Given the description of an element on the screen output the (x, y) to click on. 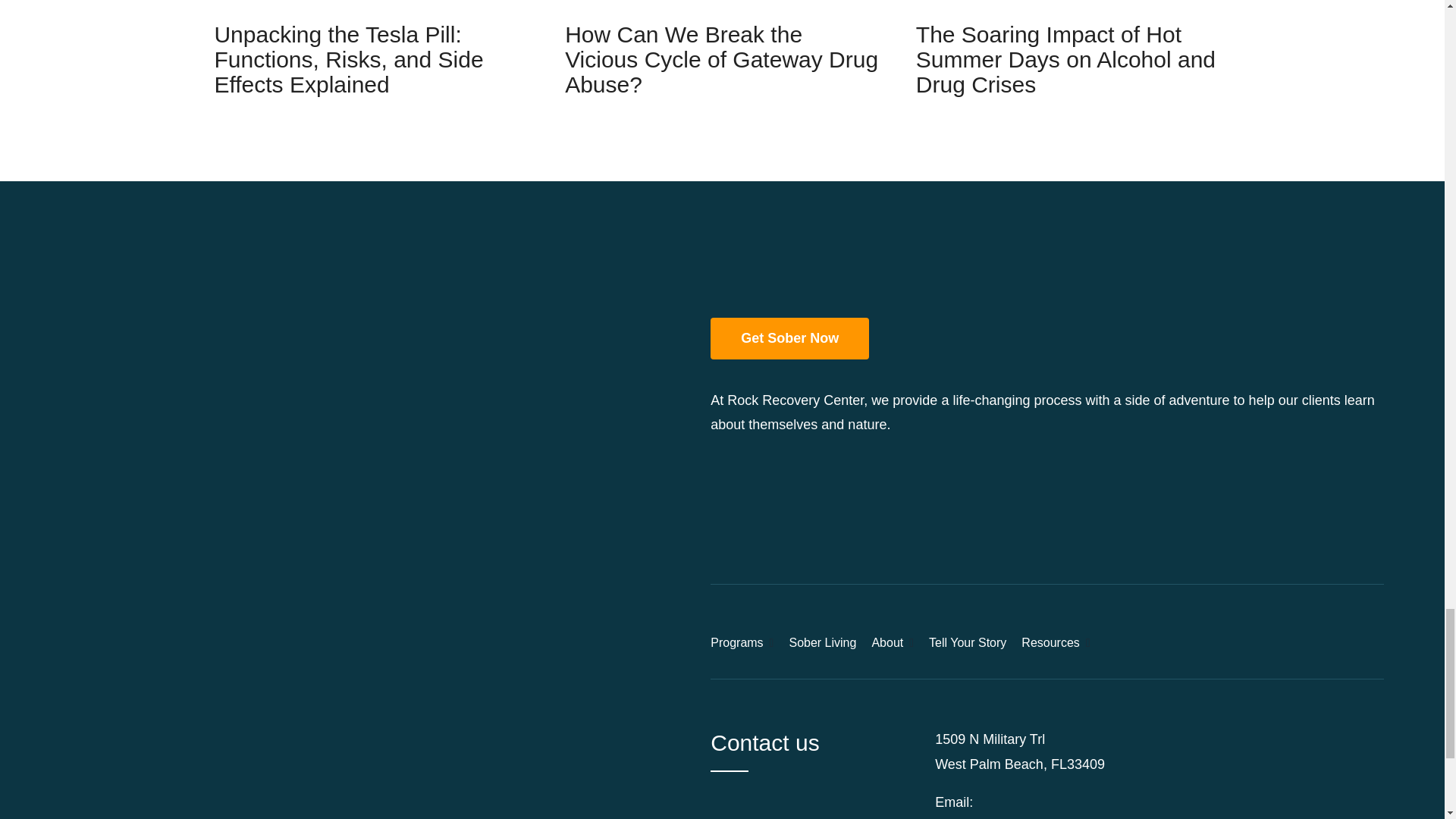
jointcommissionseal (890, 511)
How Can We Break the Vicious Cycle of Gateway Drug Abuse? (720, 58)
rock-recovery-logo-white (796, 260)
